Given the description of an element on the screen output the (x, y) to click on. 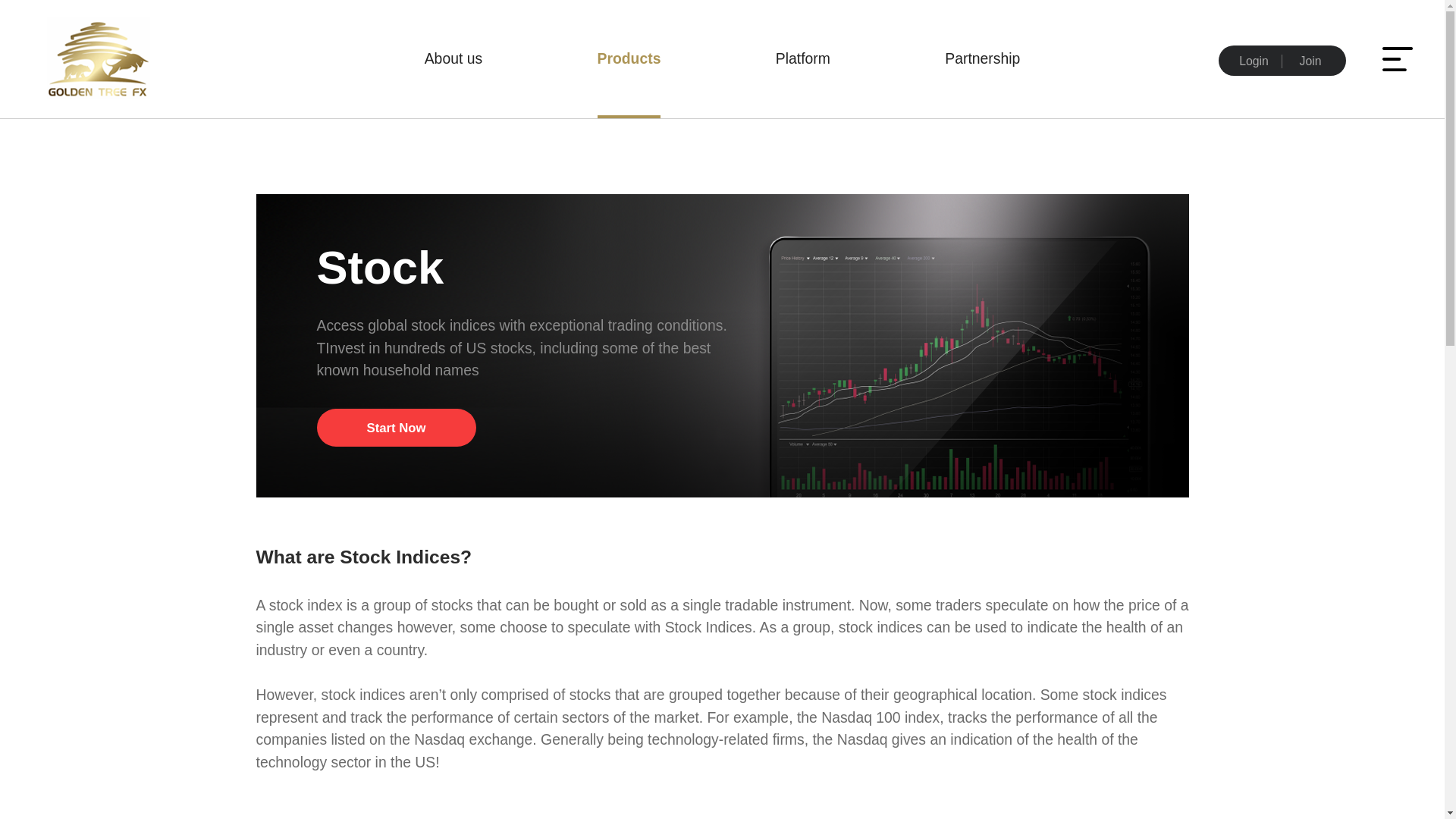
Platform (802, 58)
Join (1310, 60)
About us (453, 58)
Goldentree (96, 29)
Partnership (982, 58)
Products (628, 58)
Login (1253, 60)
Start Now (396, 427)
